Given the description of an element on the screen output the (x, y) to click on. 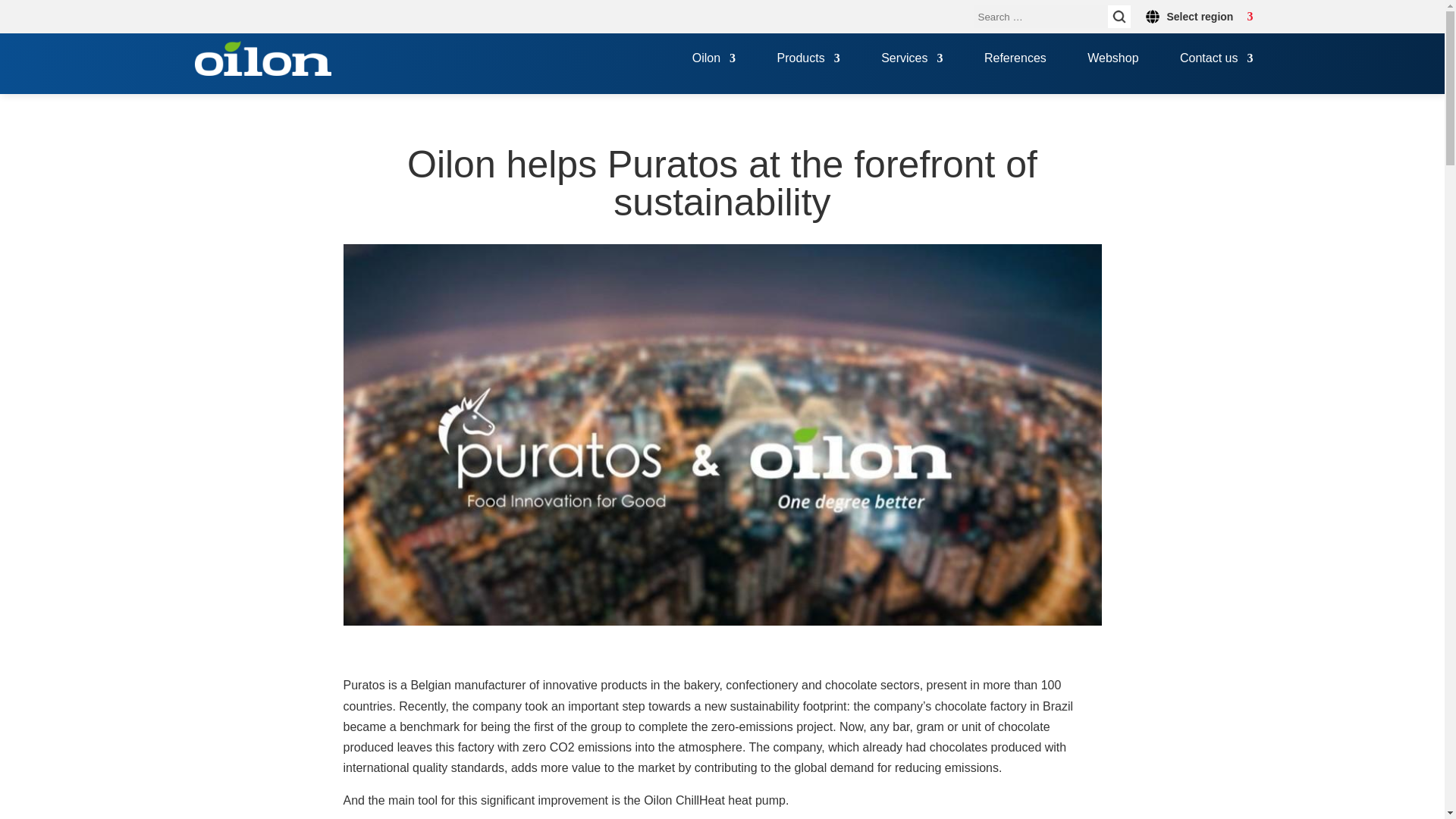
Select region (1198, 15)
Services (911, 73)
Oilon (714, 73)
Contact us (1215, 73)
Products (808, 73)
Search (1117, 15)
Search (1117, 15)
Webshop (1112, 73)
Search (1117, 15)
References (1015, 73)
